Given the description of an element on the screen output the (x, y) to click on. 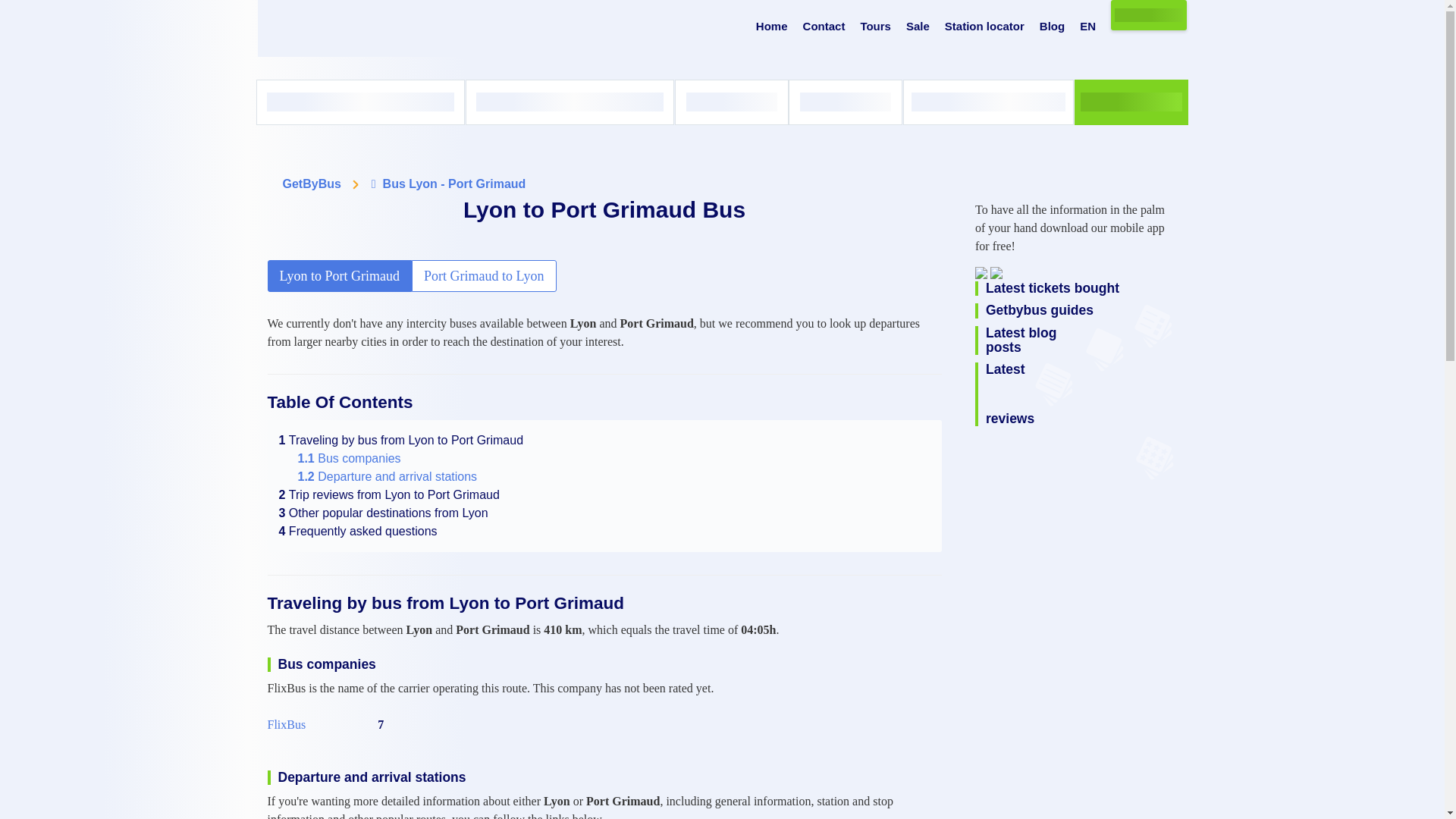
Bus companies (348, 458)
Port Grimaud to Lyon (484, 275)
Station locator (984, 26)
Departure and arrival stations (387, 476)
Traveling by bus from Lyon to Port Grimaud (401, 440)
Other popular destinations from Lyon (383, 512)
Trip reviews from Lyon to Port Grimaud (389, 494)
Frequently asked questions (358, 530)
GetByBus (311, 183)
FlixBus (285, 724)
